Given the description of an element on the screen output the (x, y) to click on. 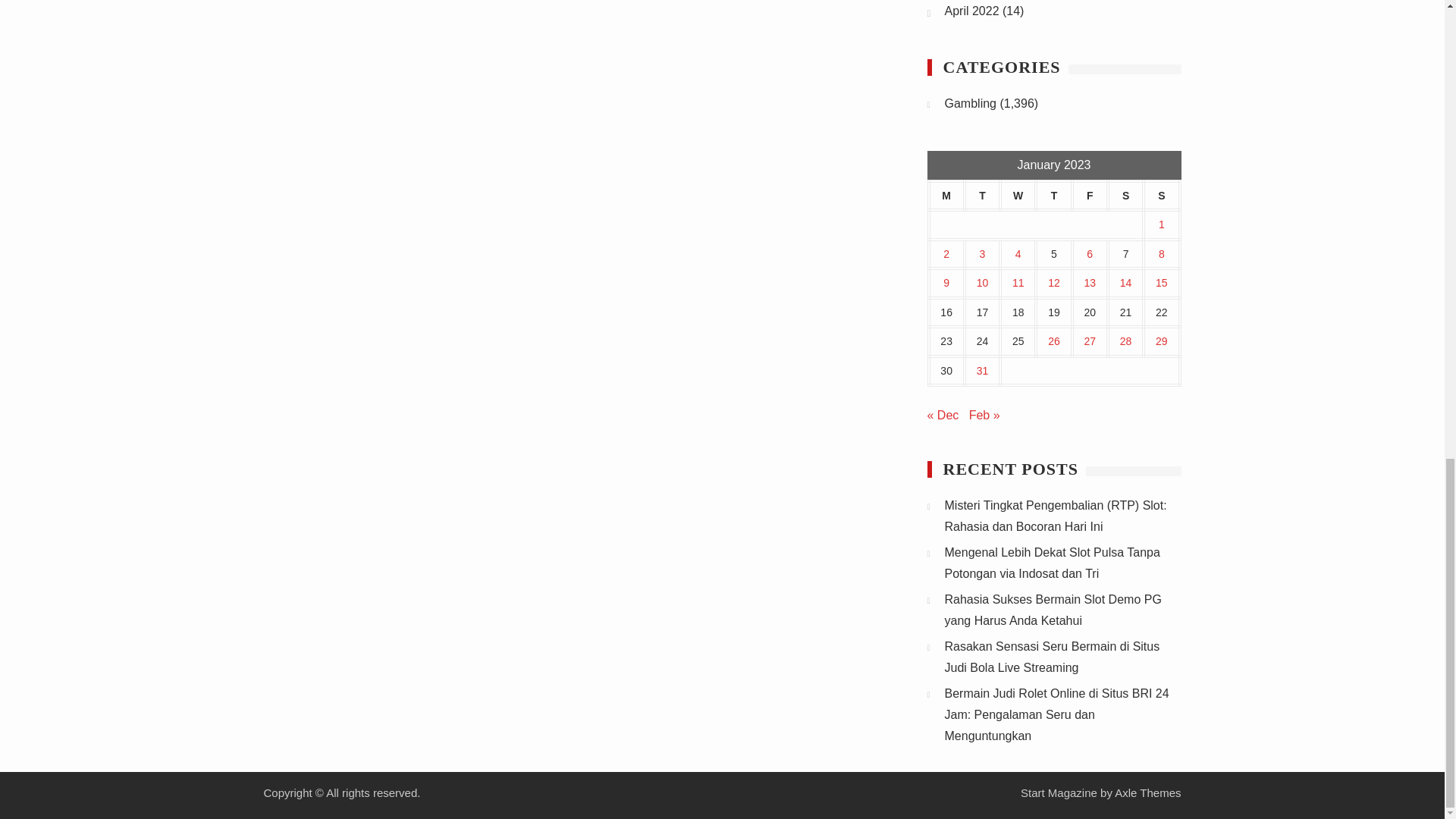
Thursday (1053, 195)
Friday (1089, 195)
Saturday (1125, 195)
Monday (945, 195)
Wednesday (1017, 195)
Tuesday (981, 195)
Sunday (1160, 195)
